Given the description of an element on the screen output the (x, y) to click on. 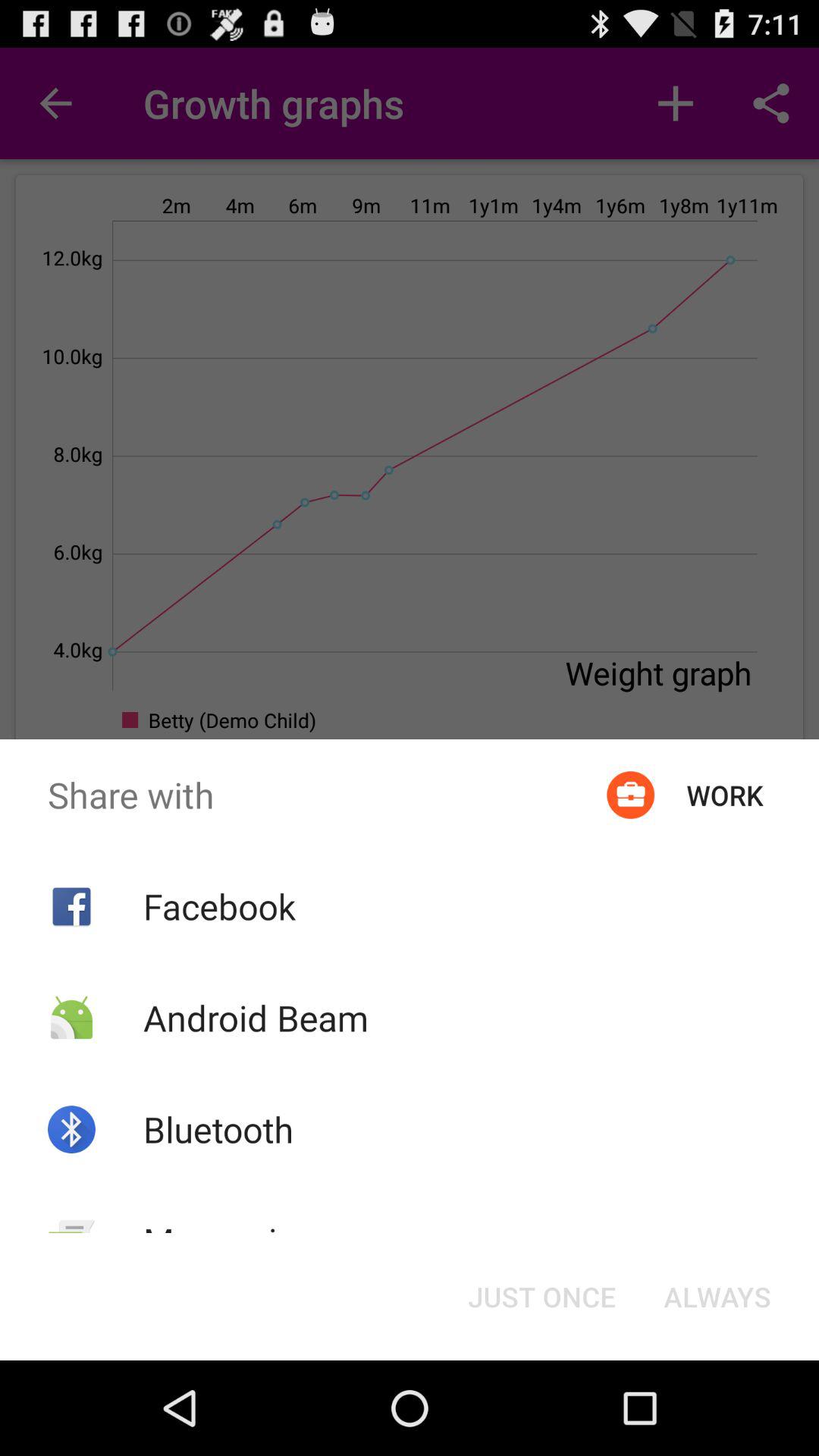
open item to the left of always icon (541, 1296)
